Given the description of an element on the screen output the (x, y) to click on. 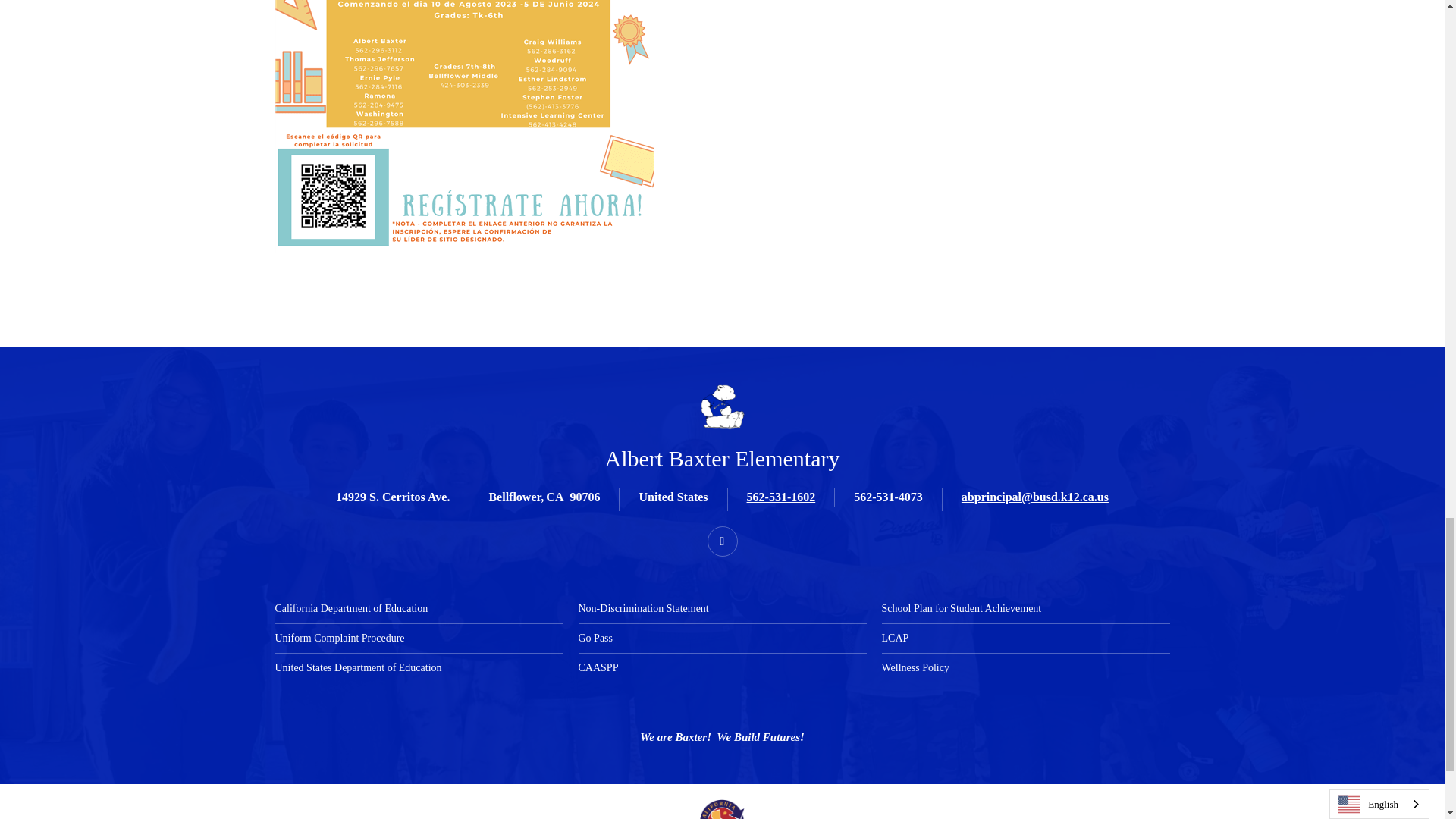
Email (1034, 496)
